Given the description of an element on the screen output the (x, y) to click on. 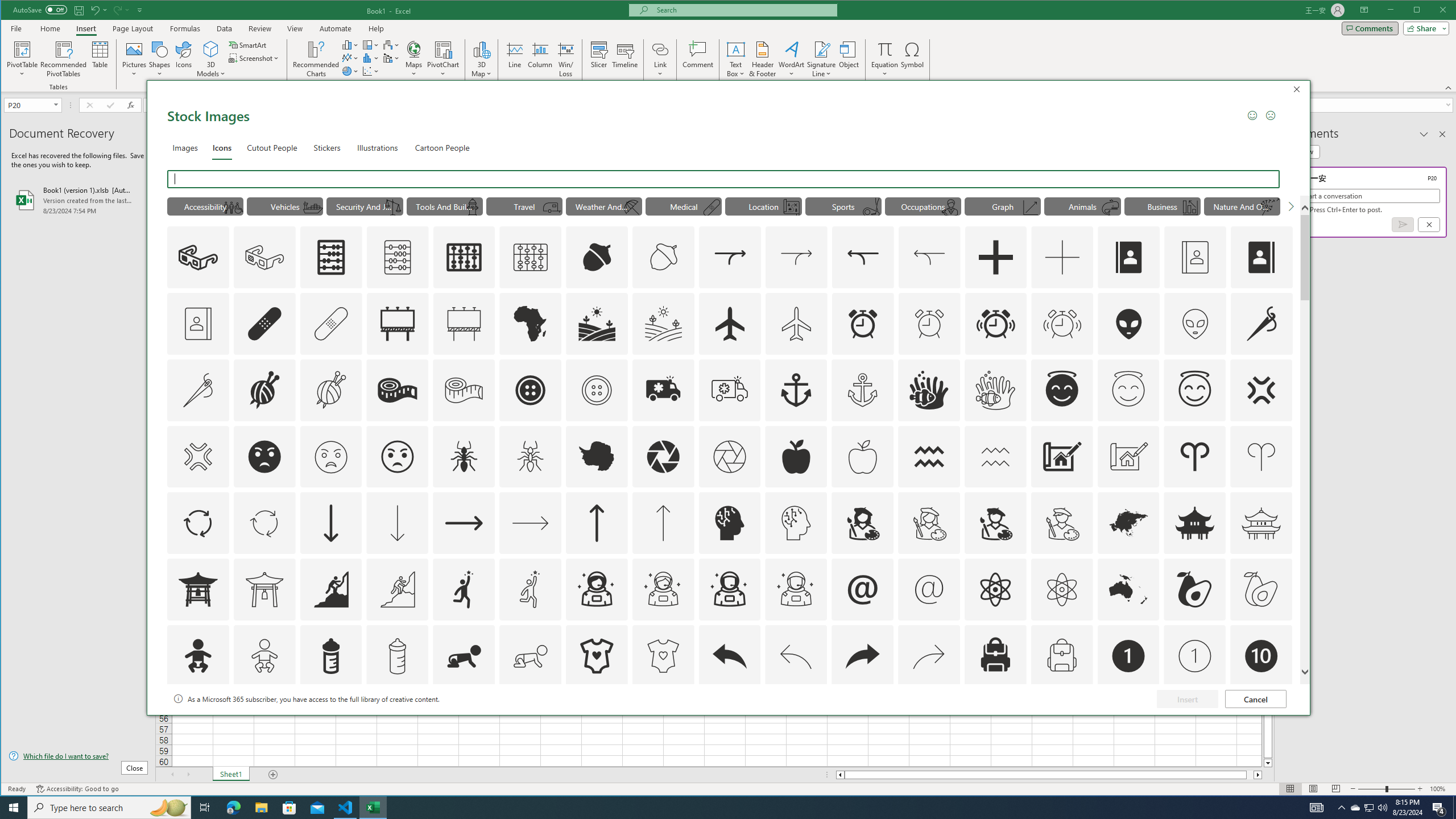
Icons (221, 147)
AutomationID: Icons_Badge2 (264, 721)
AutomationID: Icons_Back_LTR_M (796, 655)
AutomationID: Icons_AlterationsTailoring_M (197, 389)
AutomationID: Icons_BabyCrawling (464, 655)
AutomationID: Icons_3dGlasses_M (264, 256)
"Occupations" Icons. (922, 206)
AutomationID: Icons_Acquisition_LTR (729, 256)
AutomationID: Icons_Add_M (1062, 256)
AutomationID: Icons_Badge6_M (863, 721)
